Given the description of an element on the screen output the (x, y) to click on. 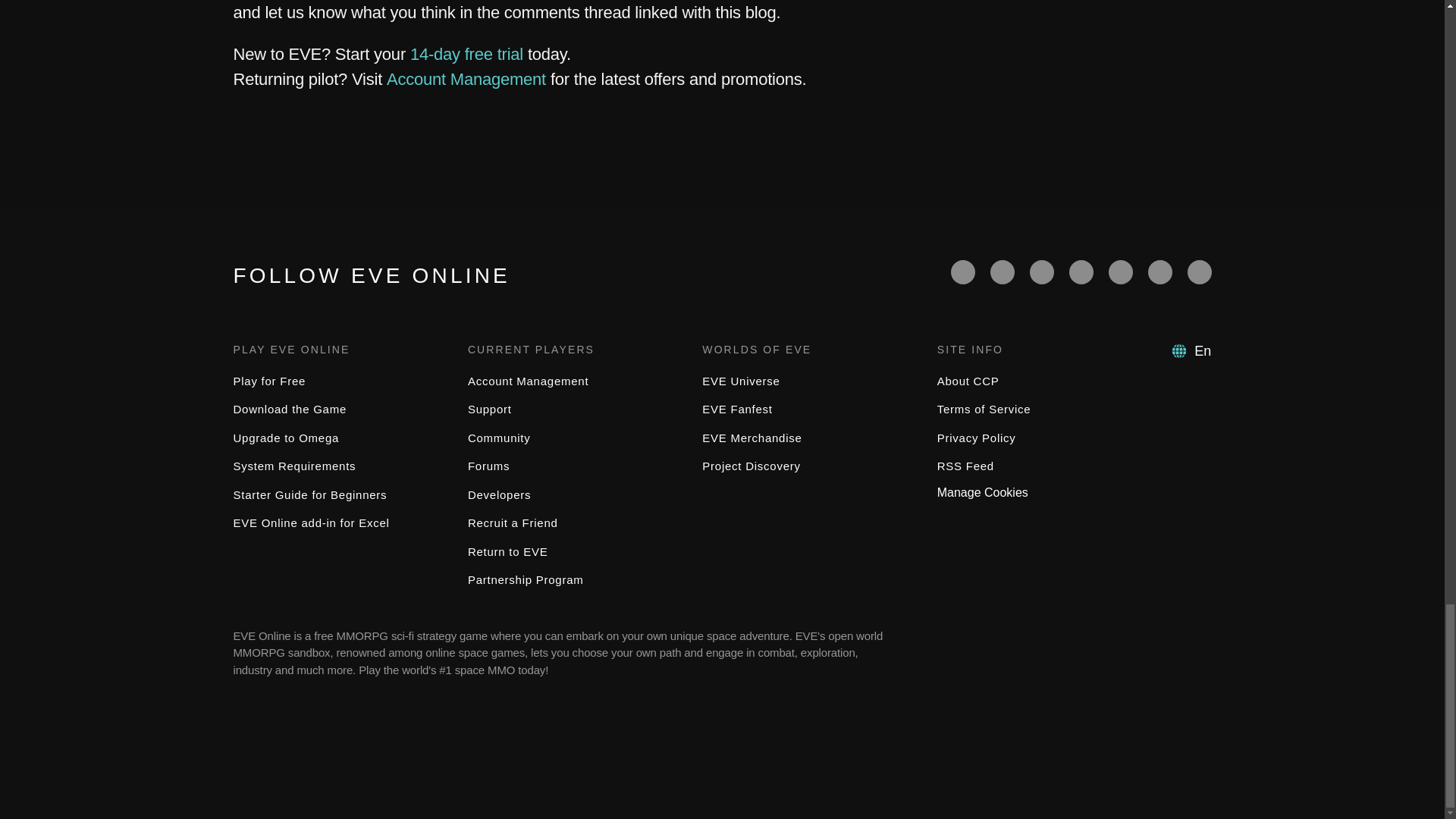
Twitch (1080, 272)
VK (1199, 272)
Play for Free (268, 380)
Instagram (1160, 272)
Discord (1120, 272)
YouTube (1041, 272)
Download the Game (289, 408)
Upgrade to Omega (285, 437)
Twitter (1002, 272)
Facebook (962, 272)
